Given the description of an element on the screen output the (x, y) to click on. 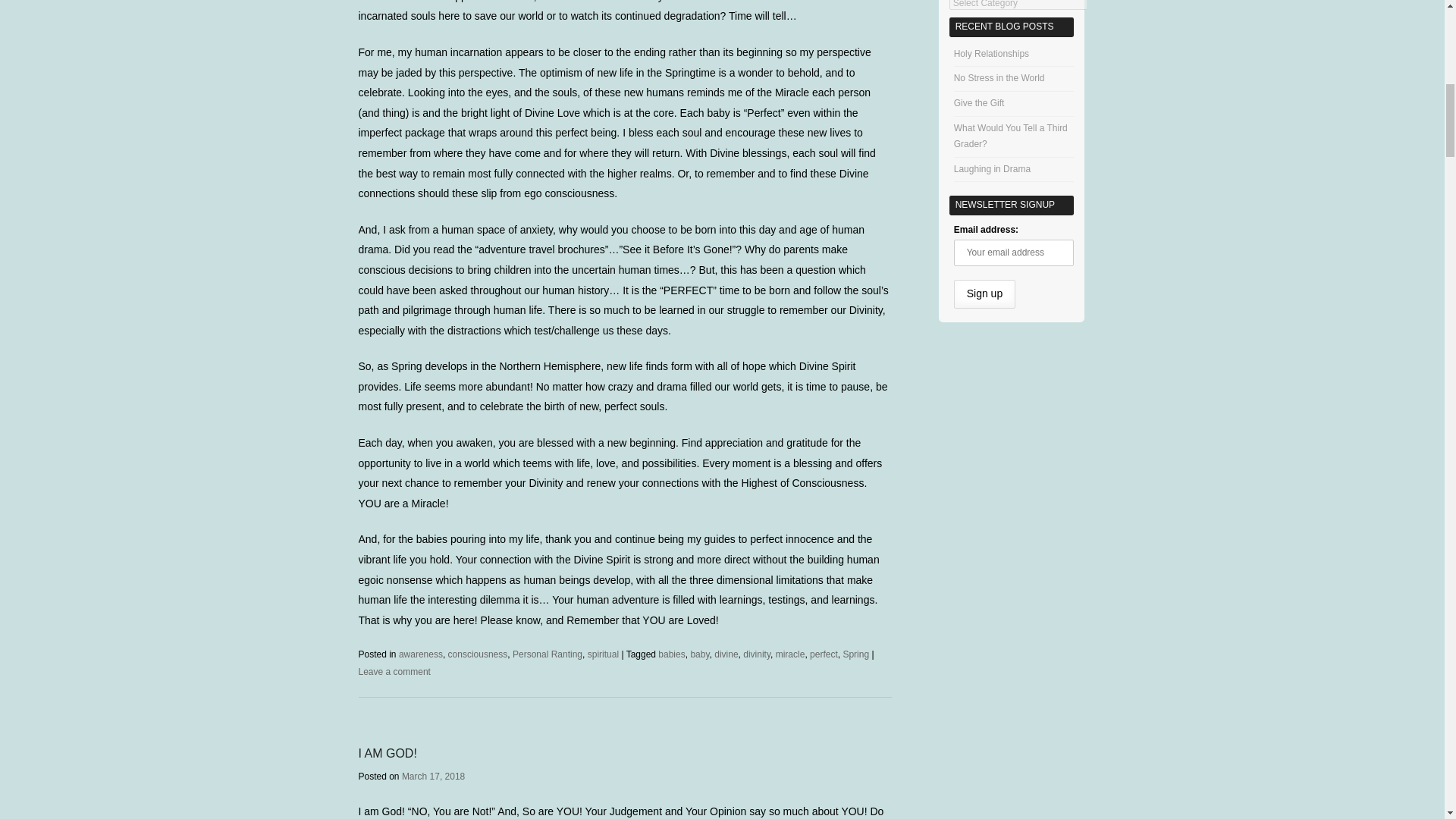
consciousness (478, 654)
March 17, 2018 (432, 776)
3:59 PM (432, 776)
Spring (856, 654)
Leave a comment (393, 671)
I AM GOD! (387, 753)
Personal Ranting (547, 654)
Permalink to I Am God! (387, 753)
perfect (823, 654)
babies (671, 654)
divinity (756, 654)
spiritual (603, 654)
miracle (790, 654)
awareness (420, 654)
divine (726, 654)
